Given the description of an element on the screen output the (x, y) to click on. 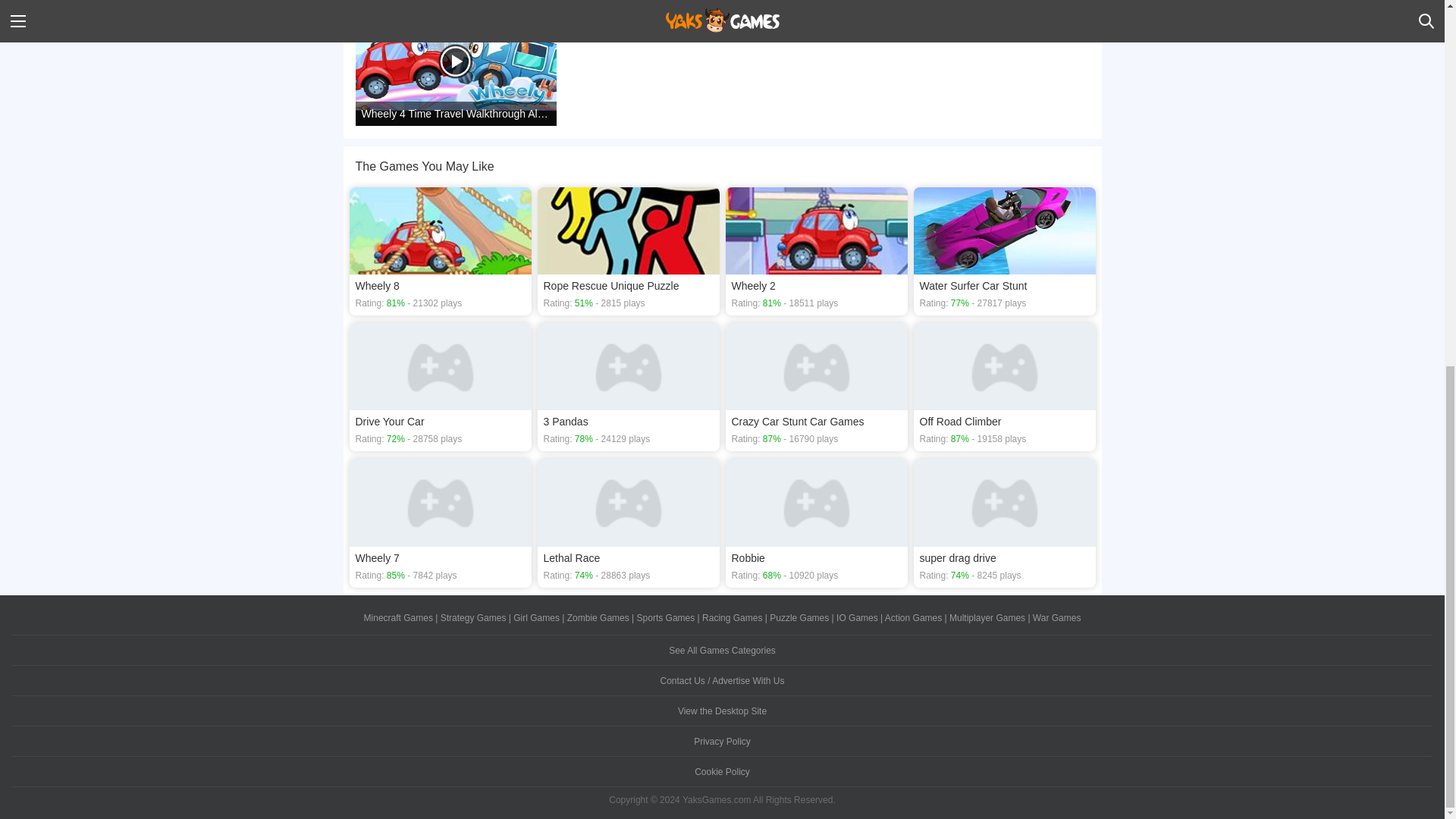
Rope Rescue Unique Puzzle (628, 251)
Wheely 4 Time Travel Walkthrough All Levels HD (455, 65)
Wheely 8 (440, 251)
